Given the description of an element on the screen output the (x, y) to click on. 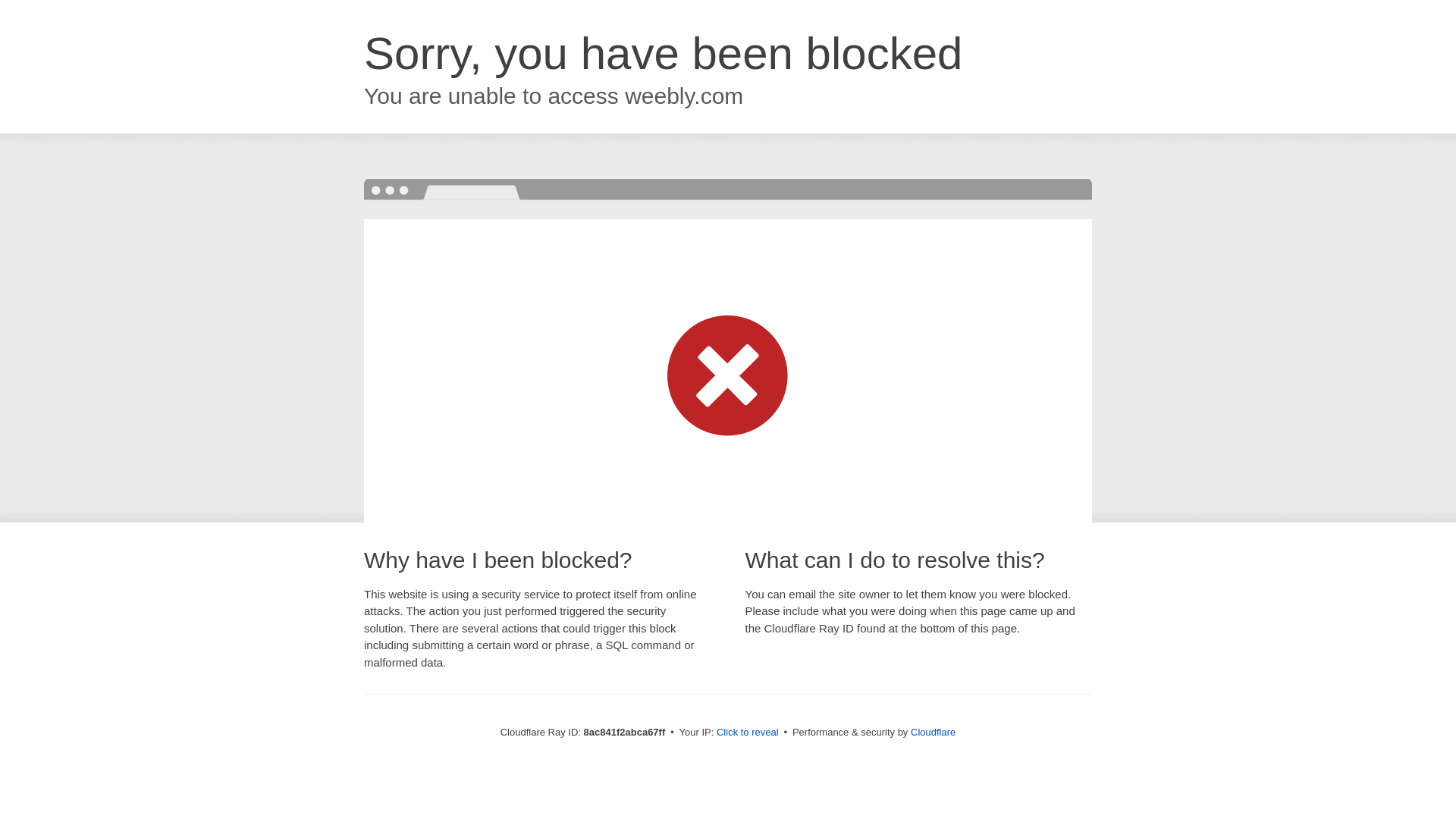
Click to reveal (747, 732)
Cloudflare (933, 731)
